Given the description of an element on the screen output the (x, y) to click on. 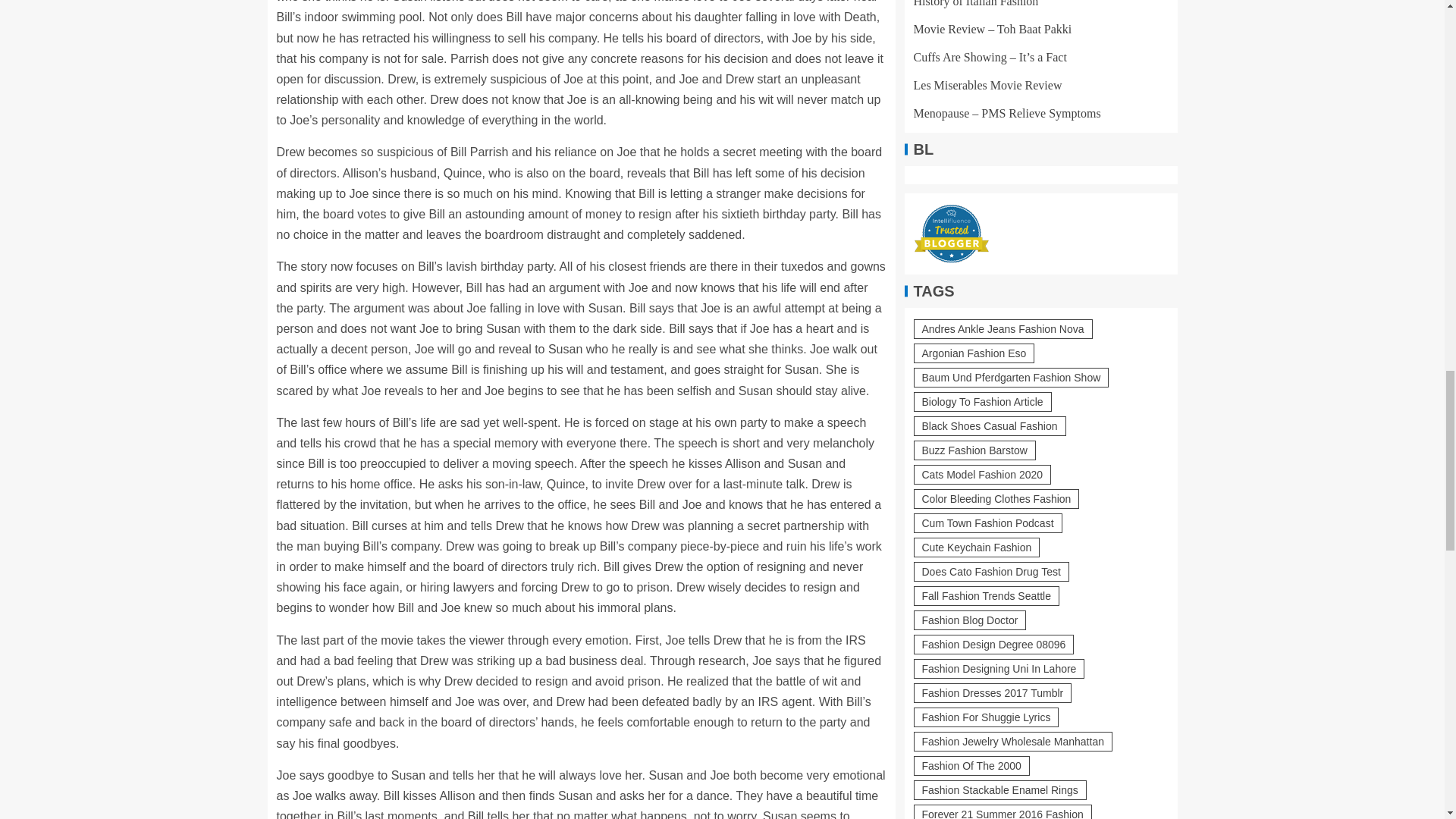
Seedbacklink (954, 757)
